Given the description of an element on the screen output the (x, y) to click on. 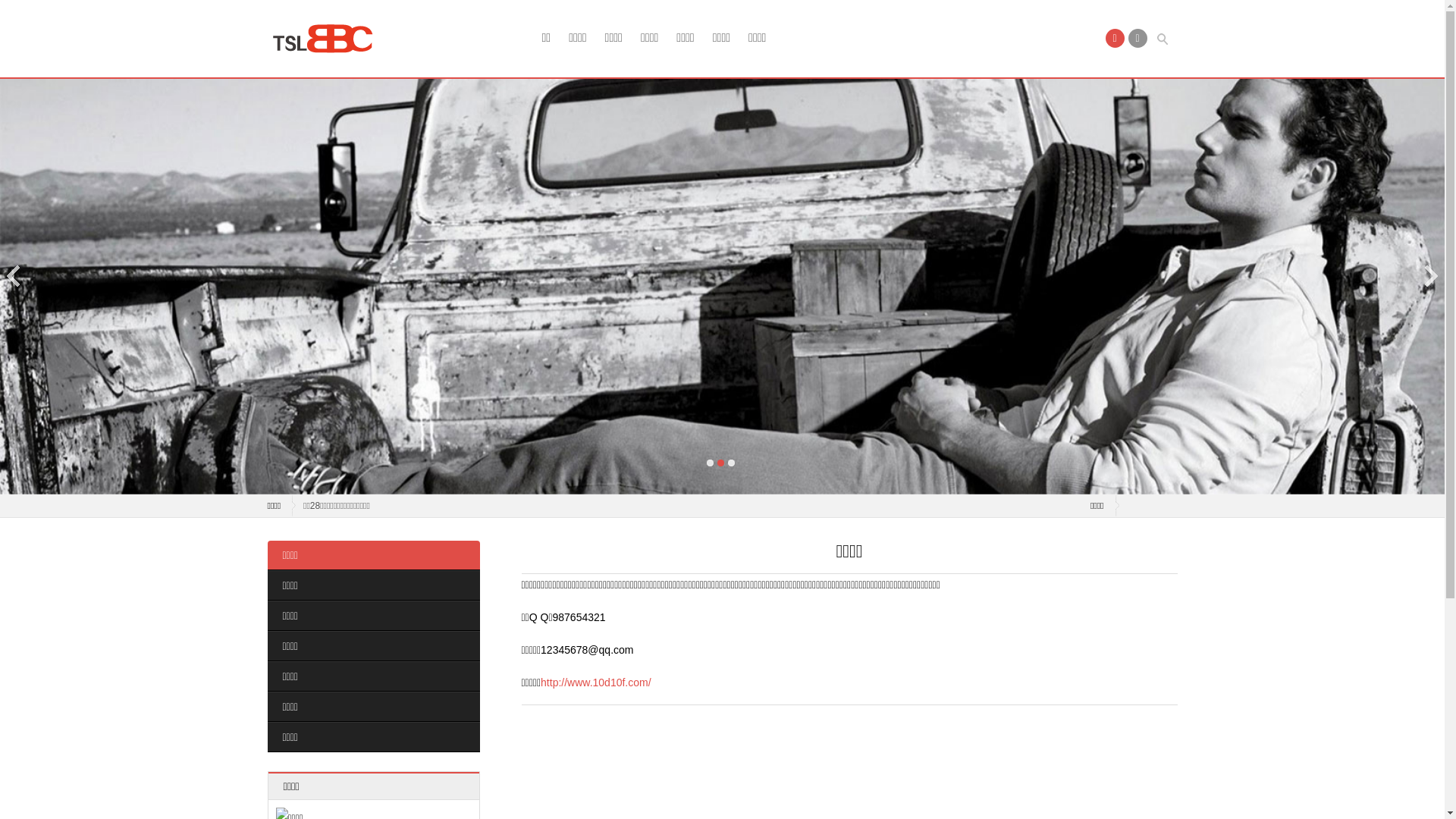
Previous Element type: text (14, 275)
http://www.10d10f.com/ Element type: text (595, 682)
Next Element type: text (1429, 275)
3 Element type: text (731, 462)
1 Element type: text (709, 462)
2 Element type: text (720, 462)
